Given the description of an element on the screen output the (x, y) to click on. 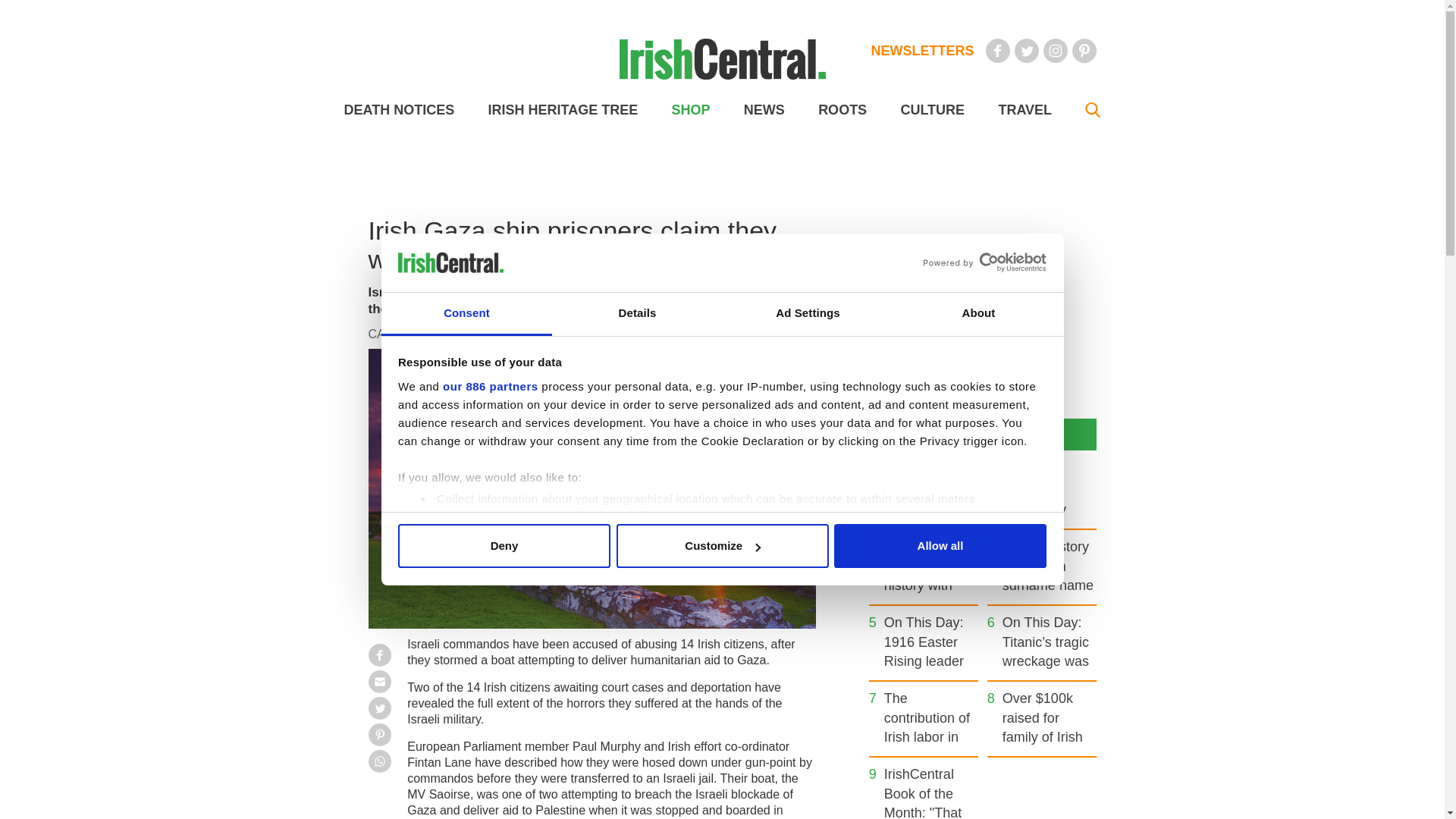
our 886 partners (490, 386)
Details (636, 313)
details section (927, 536)
Ad Settings (807, 313)
About (978, 313)
Consent (465, 313)
